Given the description of an element on the screen output the (x, y) to click on. 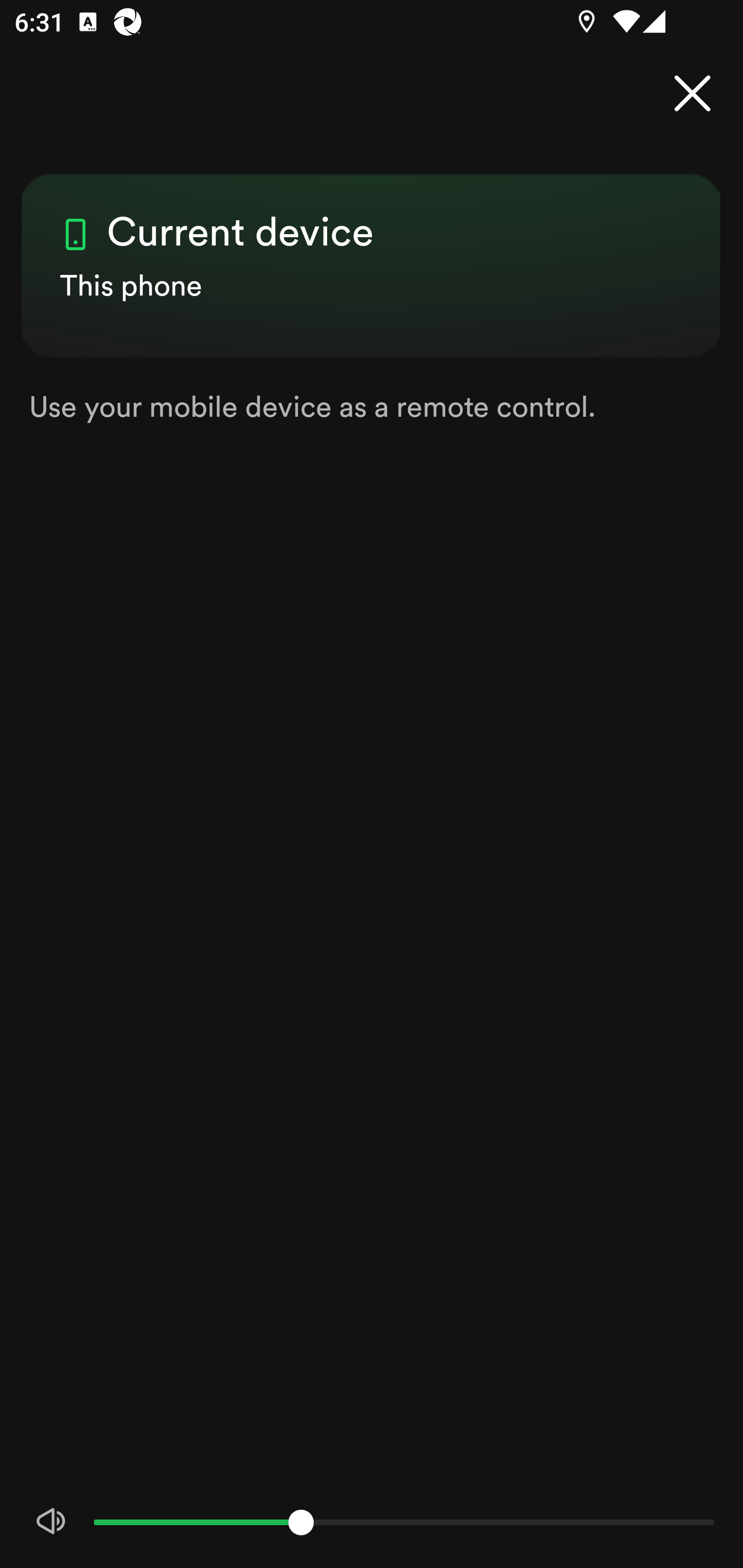
Close (692, 93)
Current device This phone (371, 247)
